Given the description of an element on the screen output the (x, y) to click on. 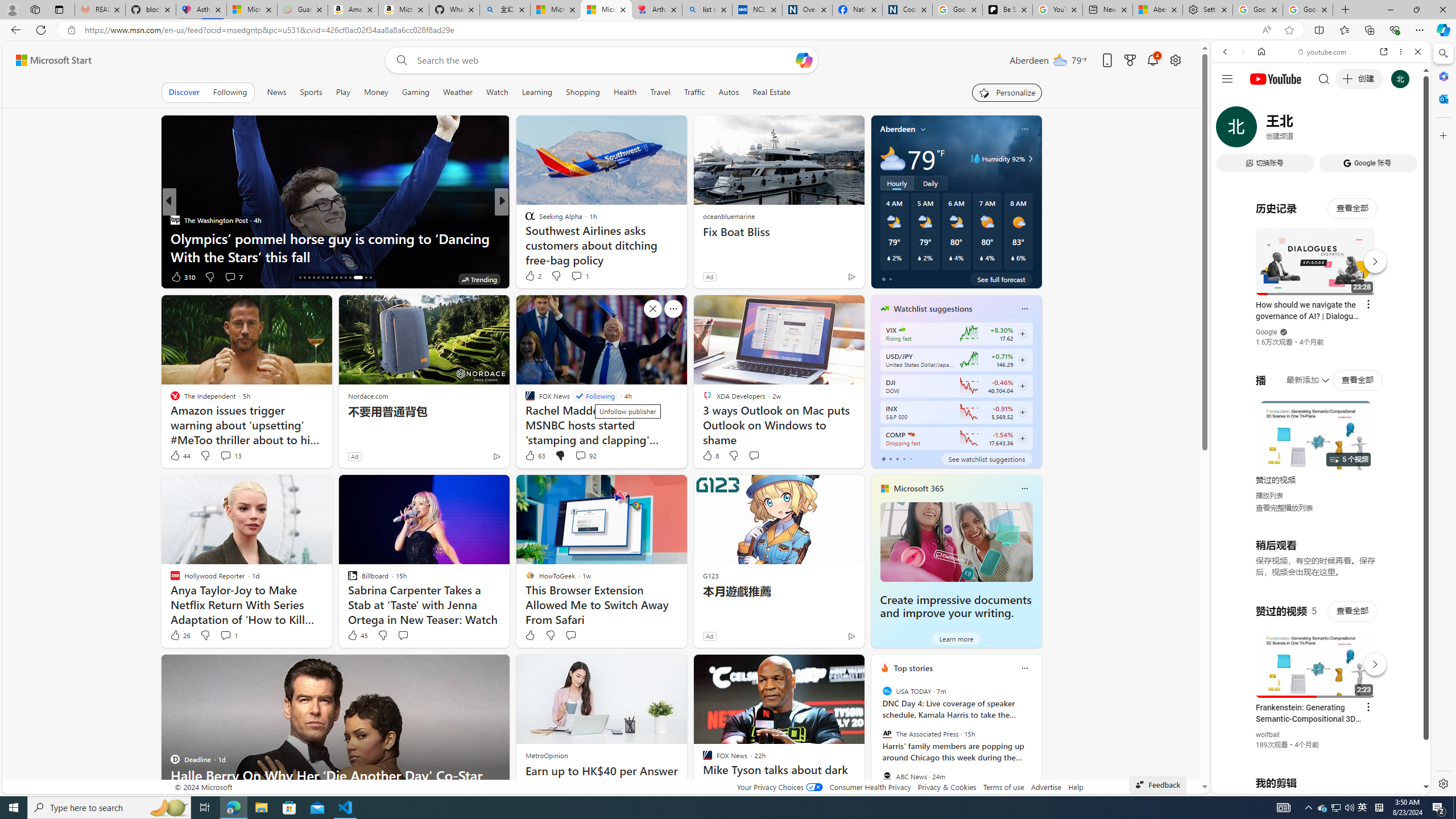
Traffic (694, 92)
Be Smart | creating Science videos | Patreon (1006, 9)
Web search (398, 60)
Sports (310, 92)
Real Estate (771, 92)
Hourly (896, 183)
Trailer #2 [HD] (1320, 336)
Scripps News (524, 219)
Learning (536, 92)
Close Customize pane (1442, 135)
AutomationID: tab-24 (336, 277)
